Given the description of an element on the screen output the (x, y) to click on. 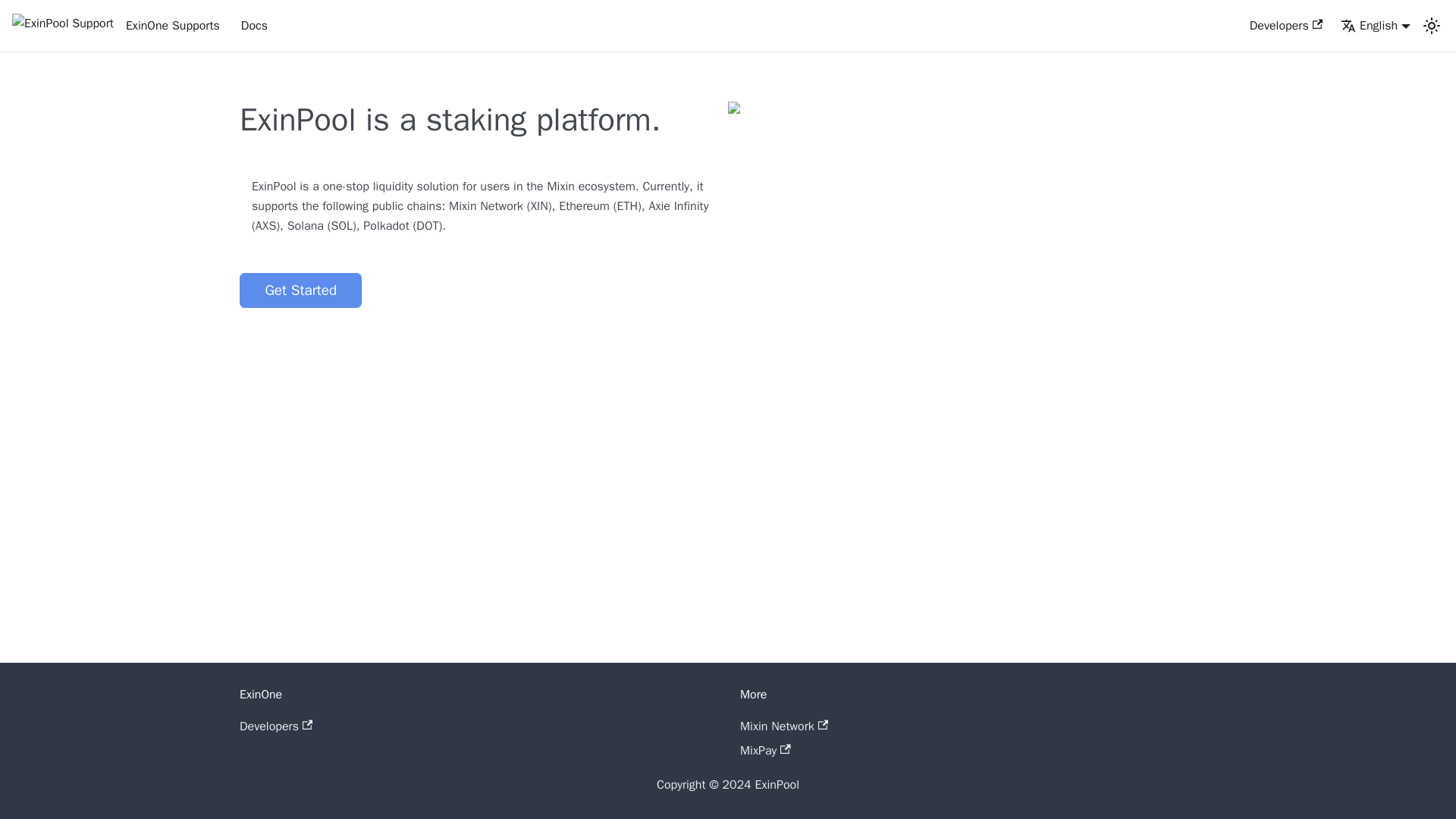
ExinOne Supports (115, 25)
Developers (1286, 25)
MixPay (764, 750)
Get Started (300, 290)
English (1375, 25)
Mixin Network (783, 726)
Docs (253, 25)
Developers (276, 726)
